Given the description of an element on the screen output the (x, y) to click on. 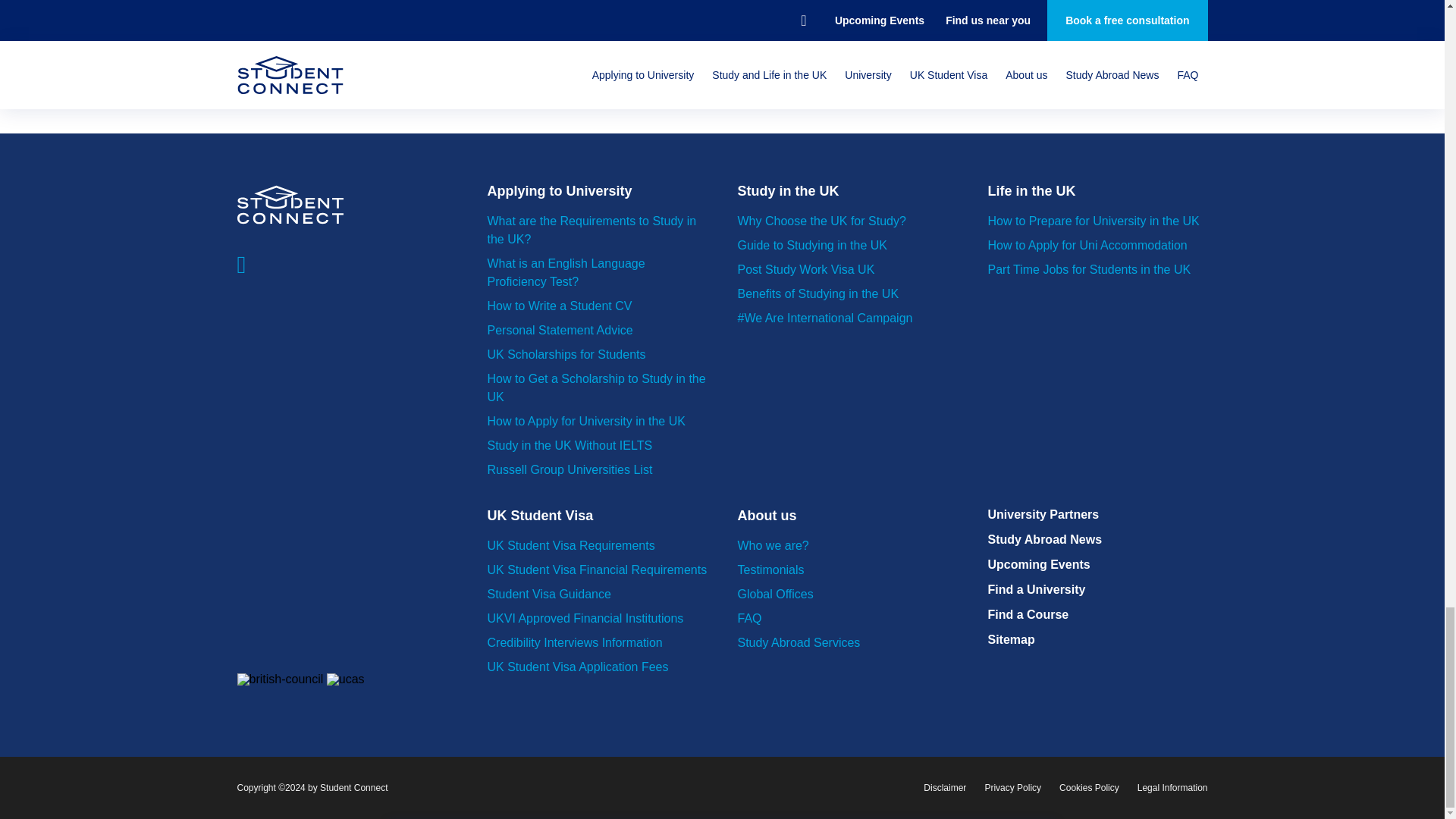
ucas (345, 679)
british-council (279, 679)
1 (721, 79)
